Given the description of an element on the screen output the (x, y) to click on. 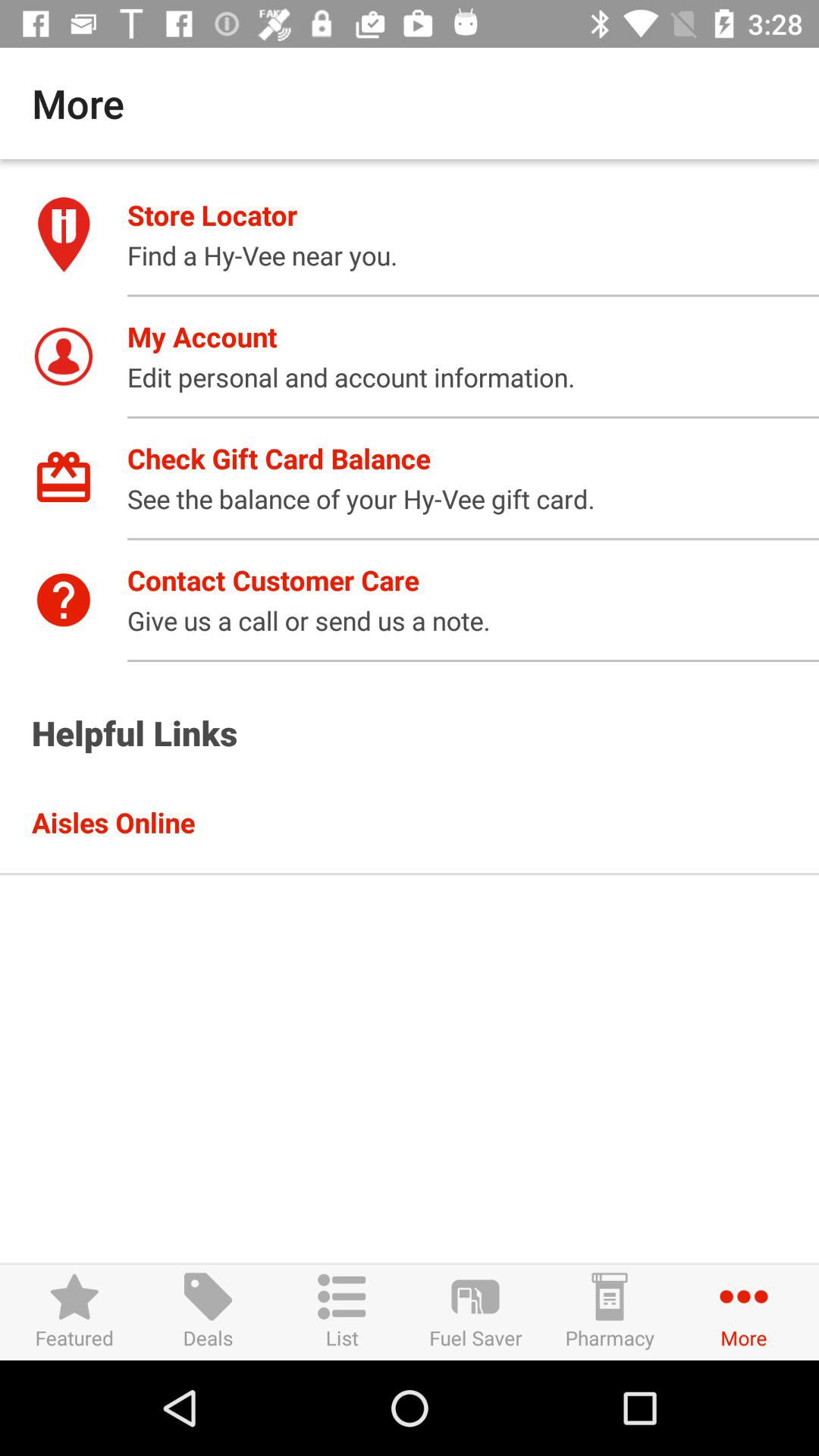
launch icon next to pharmacy (475, 1311)
